Given the description of an element on the screen output the (x, y) to click on. 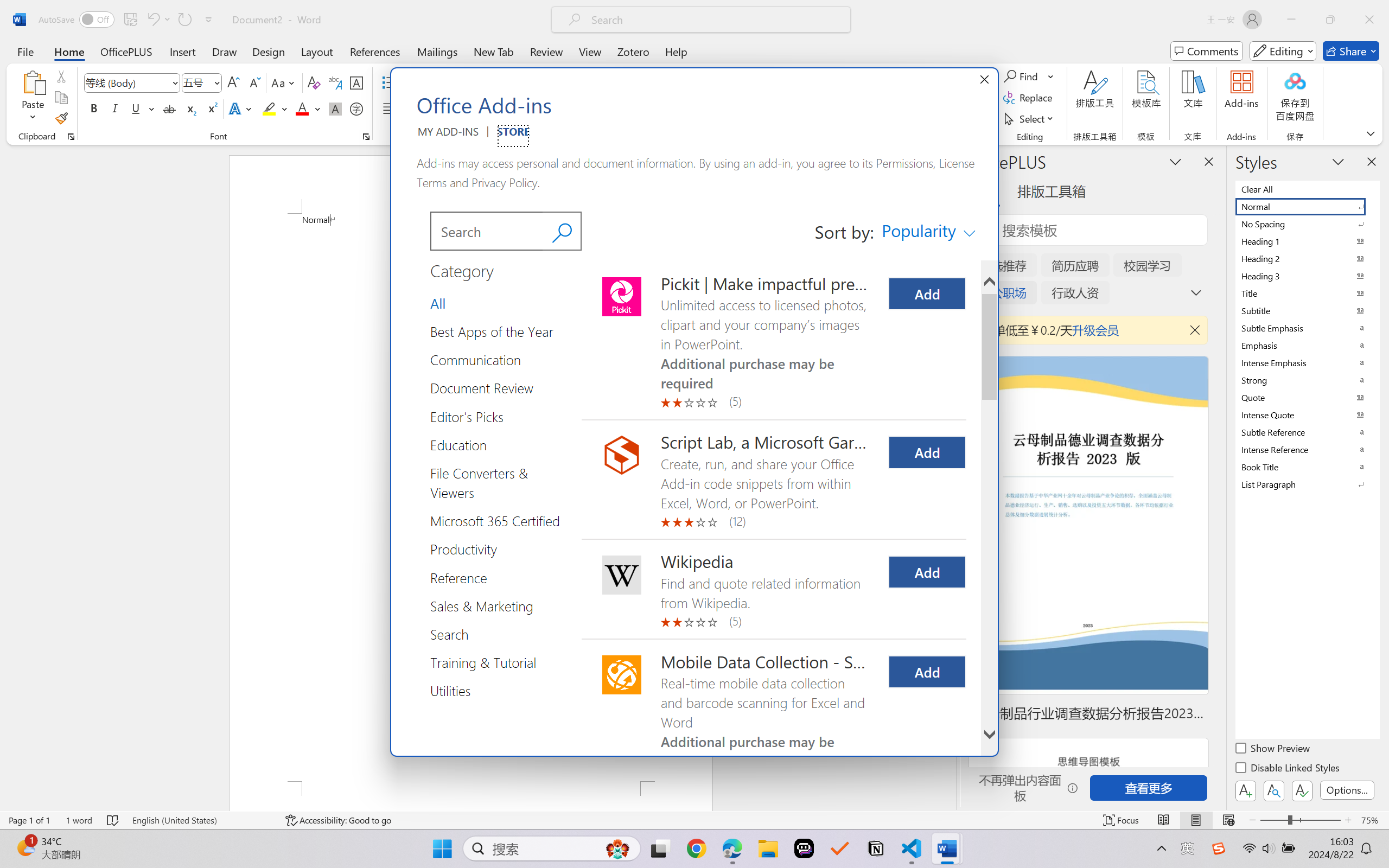
Zoom In (1348, 819)
Underline (142, 108)
Category Group Reference 10 of 14 (462, 576)
Title (1306, 293)
More Options (1051, 75)
Disable Linked Styles (1287, 769)
Category Group Sales & Marketing 11 of 14 (485, 605)
Web Layout (1228, 819)
Options... (1346, 789)
Open (215, 82)
Google Chrome (696, 848)
